Given the description of an element on the screen output the (x, y) to click on. 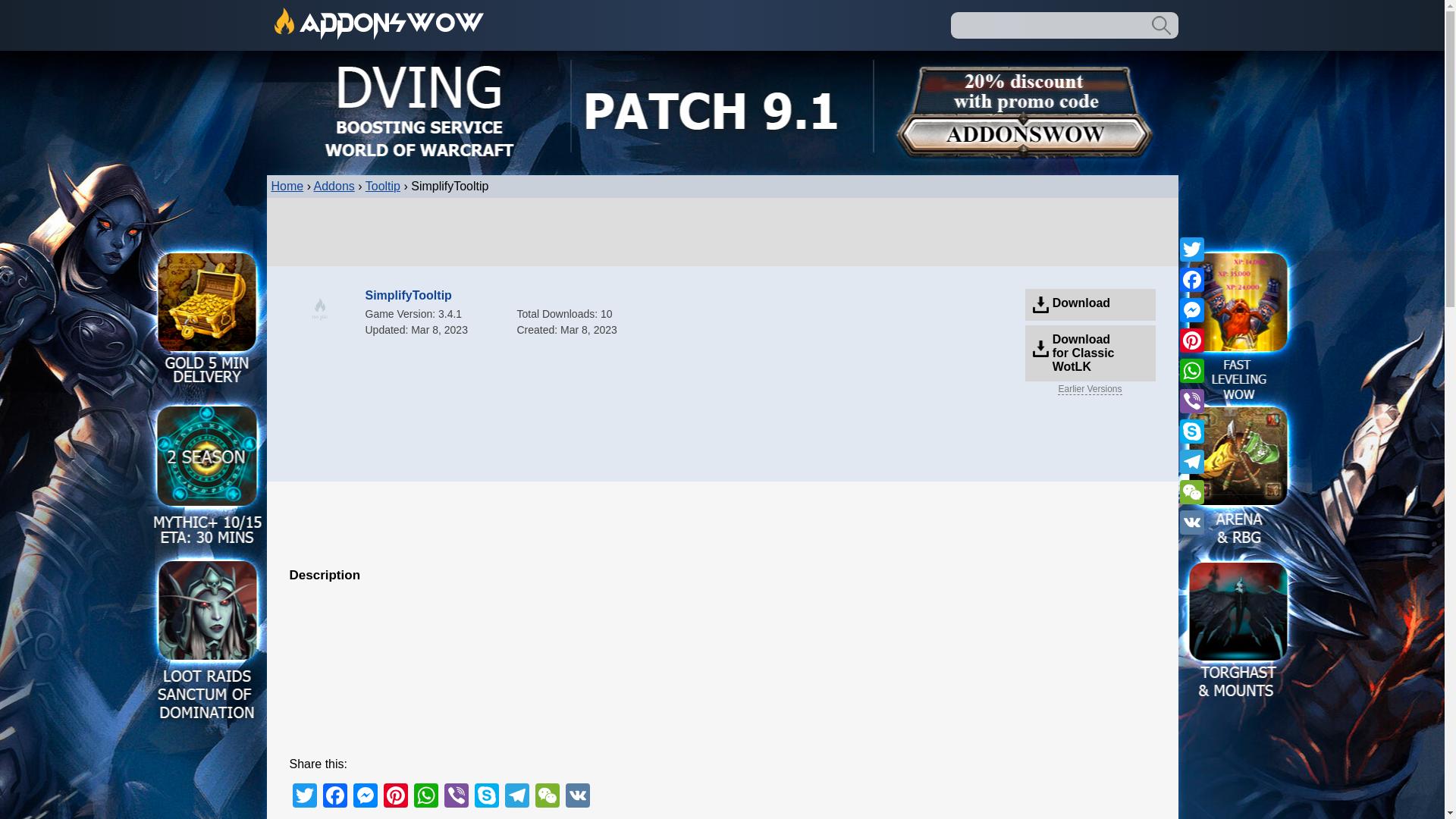
Telegram (1191, 461)
VK (577, 796)
Telegram (517, 796)
Twitter (304, 796)
Messenger (1191, 309)
Home (287, 185)
WhatsApp (425, 796)
wow addon SimplifyTooltip (319, 309)
Advertisement (722, 669)
Viber (456, 796)
Facebook (1191, 279)
Messenger (365, 796)
Skype (486, 796)
WhatsApp (425, 796)
VK (577, 796)
